Given the description of an element on the screen output the (x, y) to click on. 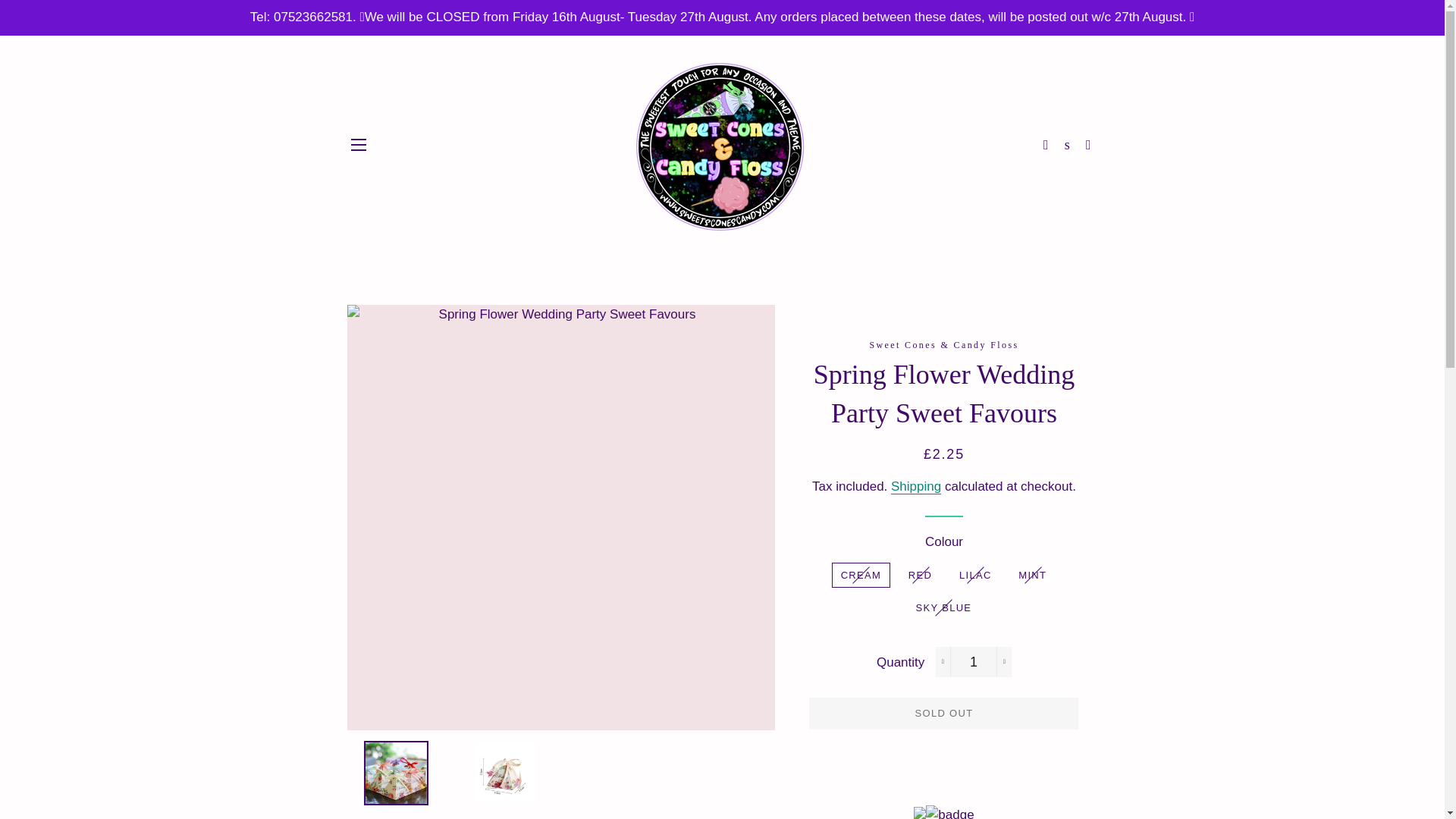
SITE NAVIGATION (358, 144)
1 (973, 662)
